Given the description of an element on the screen output the (x, y) to click on. 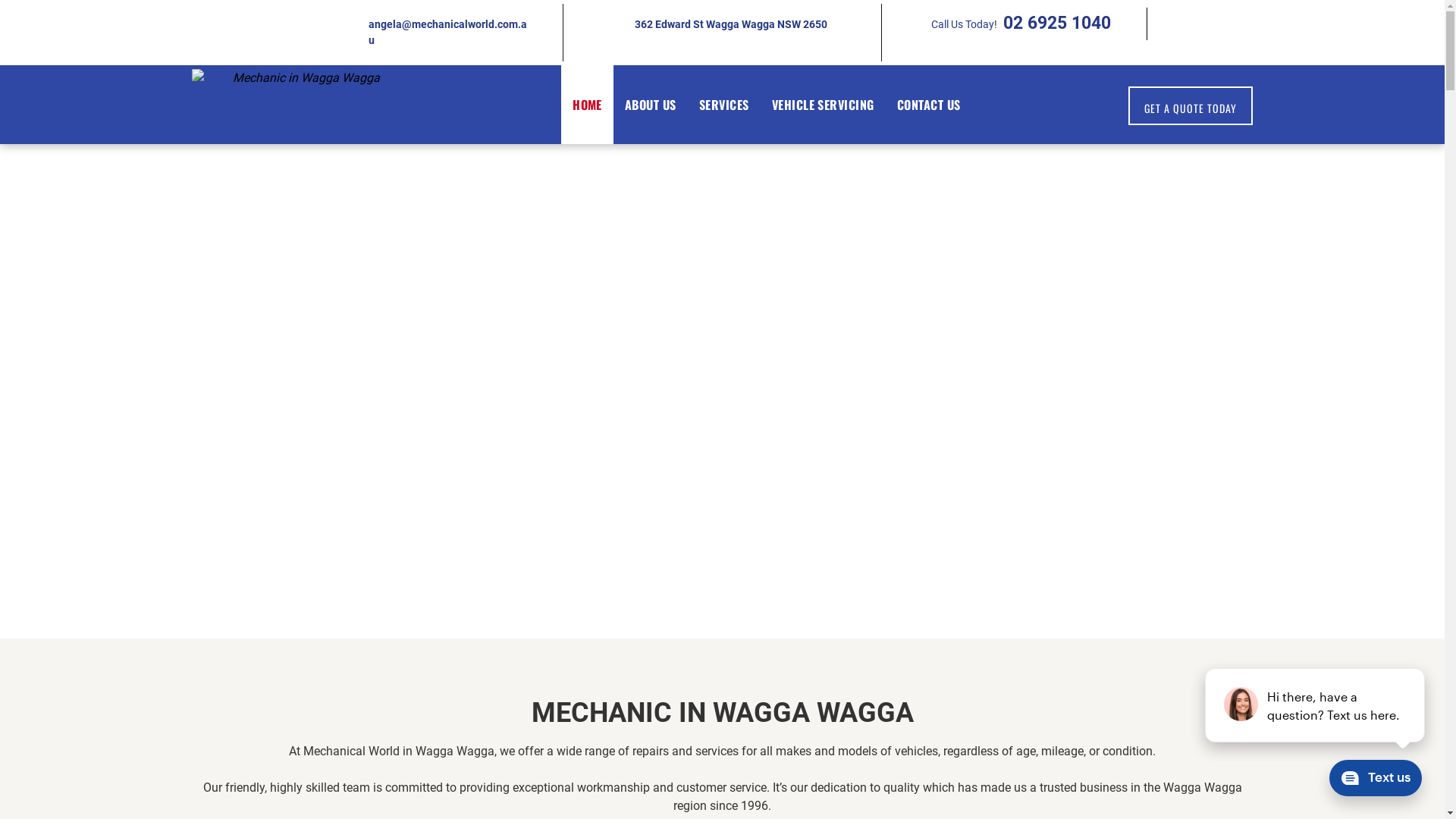
ABOUT US Element type: text (650, 104)
362 Edward St Wagga Wagga NSW 2650 Element type: text (730, 24)
CONTACT US Element type: text (928, 104)
VEHICLE SERVICING Element type: text (822, 104)
HOME Element type: text (587, 104)
Mechanic in Wagga Wagga Element type: hover (299, 102)
SERVICES Element type: text (723, 104)
GET A QUOTE TODAY Element type: text (1190, 105)
02 6925 1040 Element type: text (1056, 22)
angela@mechanicalworld.com.au Element type: text (447, 32)
podium webchat widget prompt Element type: hover (1315, 705)
